Given the description of an element on the screen output the (x, y) to click on. 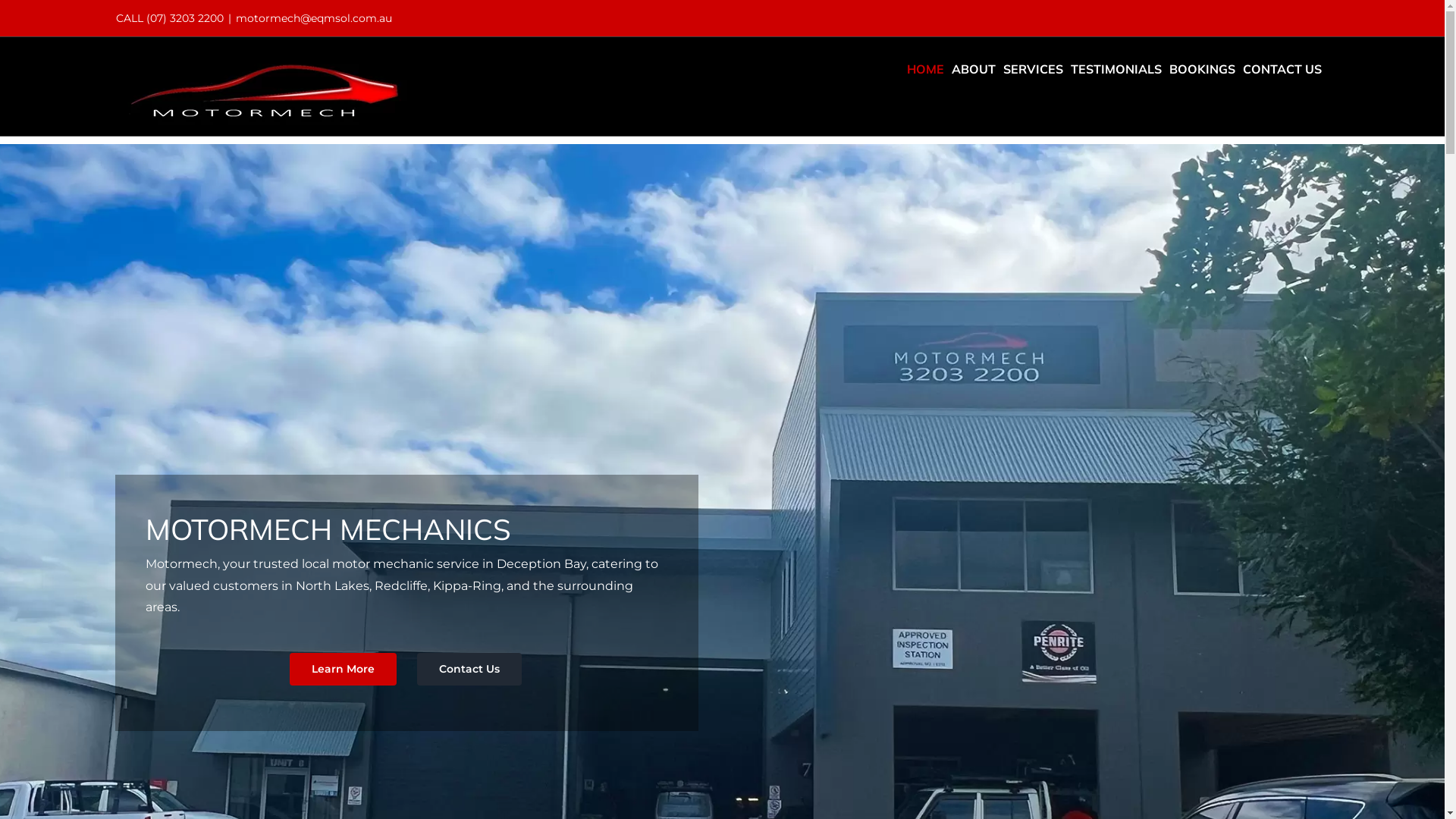
BOOKINGS Element type: text (1202, 68)
motormech@eqmsol.com.au Element type: text (313, 18)
TESTIMONIALS Element type: text (1115, 68)
CONTACT US Element type: text (1281, 68)
ABOUT Element type: text (972, 68)
SERVICES Element type: text (1032, 68)
Contact Us Element type: text (469, 668)
Learn More Element type: text (342, 668)
HOME Element type: text (925, 68)
